Given the description of an element on the screen output the (x, y) to click on. 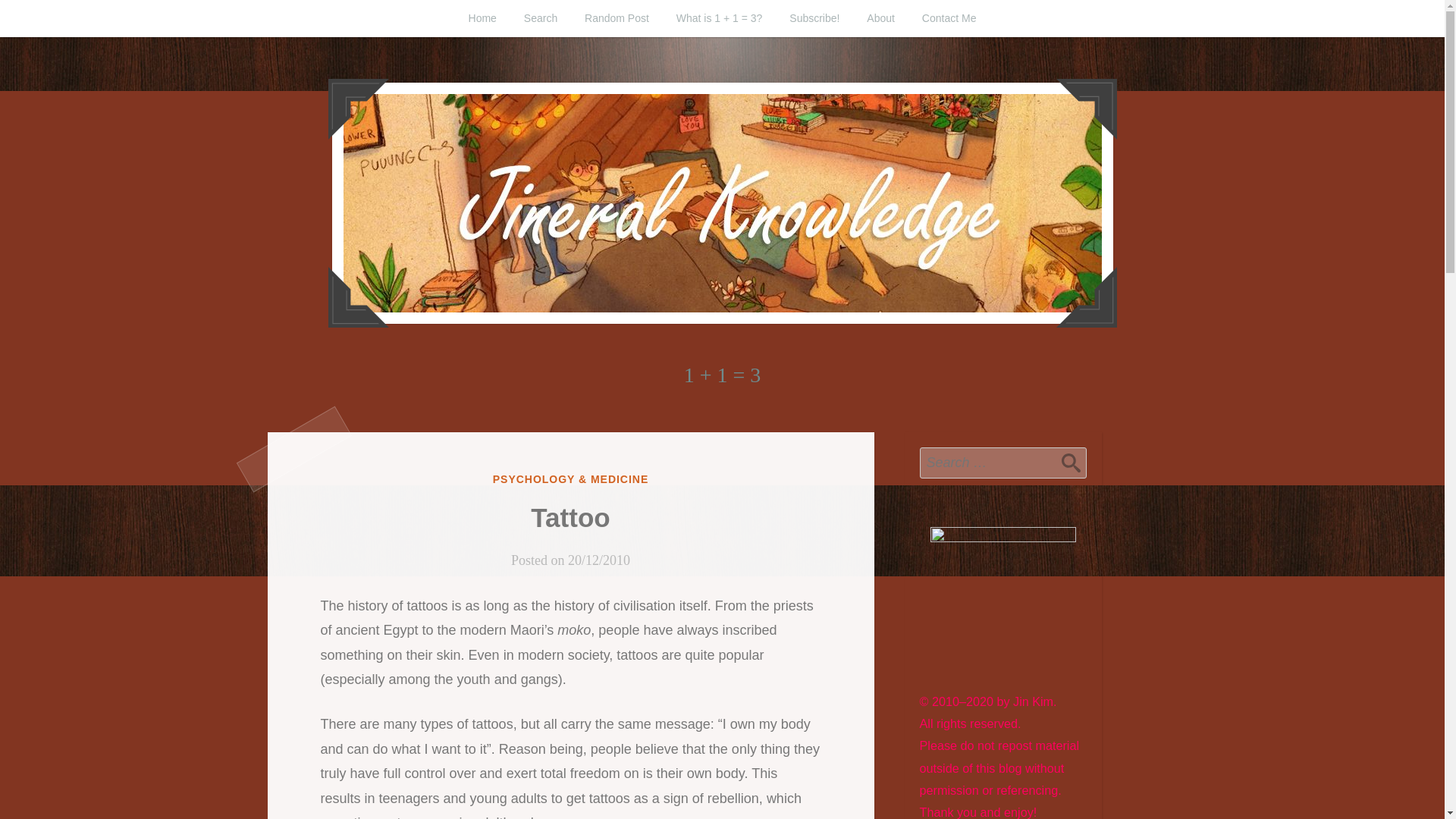
Search (1070, 462)
Subscribe! (814, 18)
Random Post (616, 18)
Search (1070, 462)
About (880, 18)
Contact Me (949, 18)
Search (540, 18)
Search (1070, 462)
Home (482, 18)
